Given the description of an element on the screen output the (x, y) to click on. 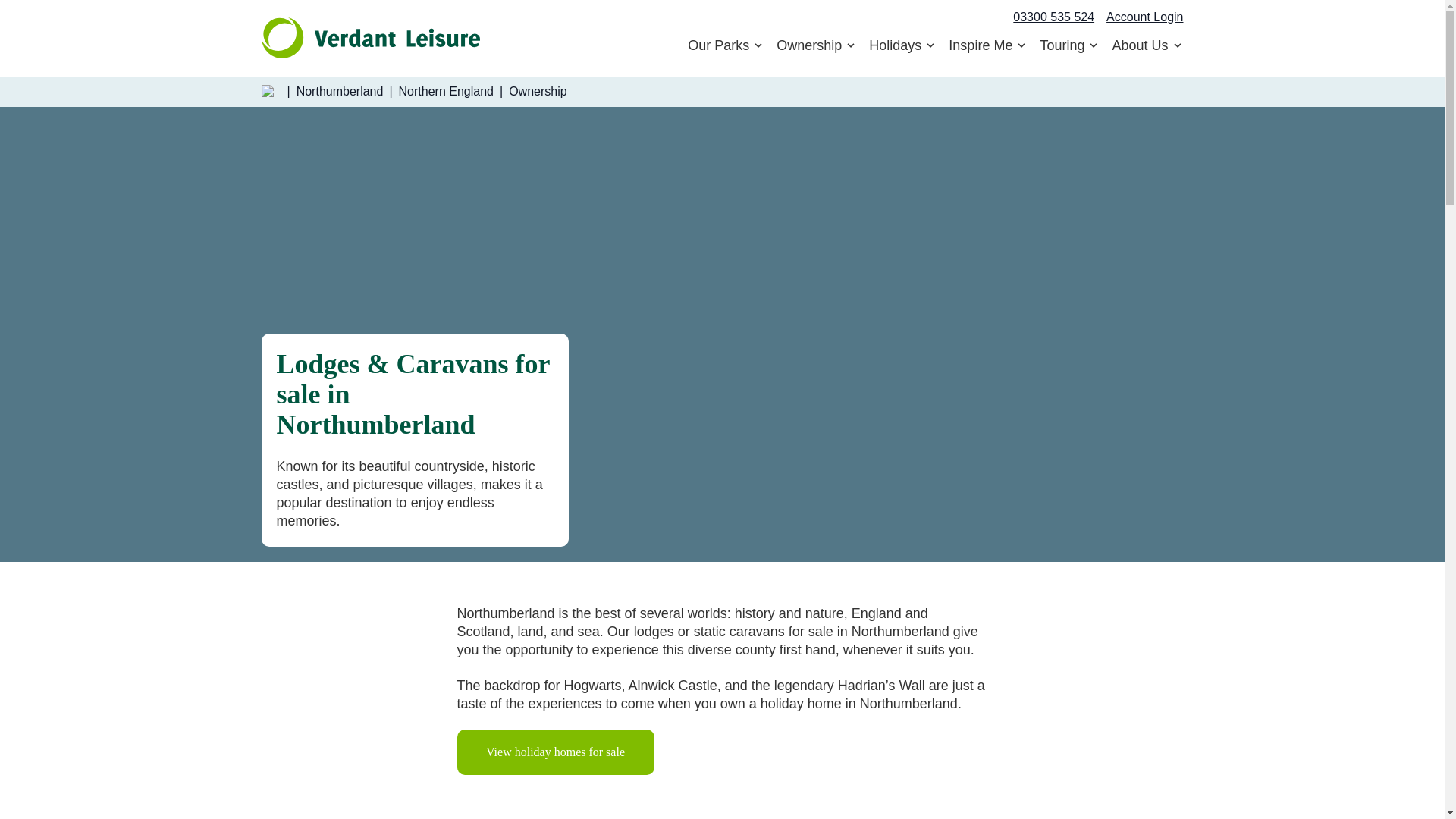
Our Parks (725, 45)
Account Login (928, 45)
03300 535 524 (1144, 16)
